Given the description of an element on the screen output the (x, y) to click on. 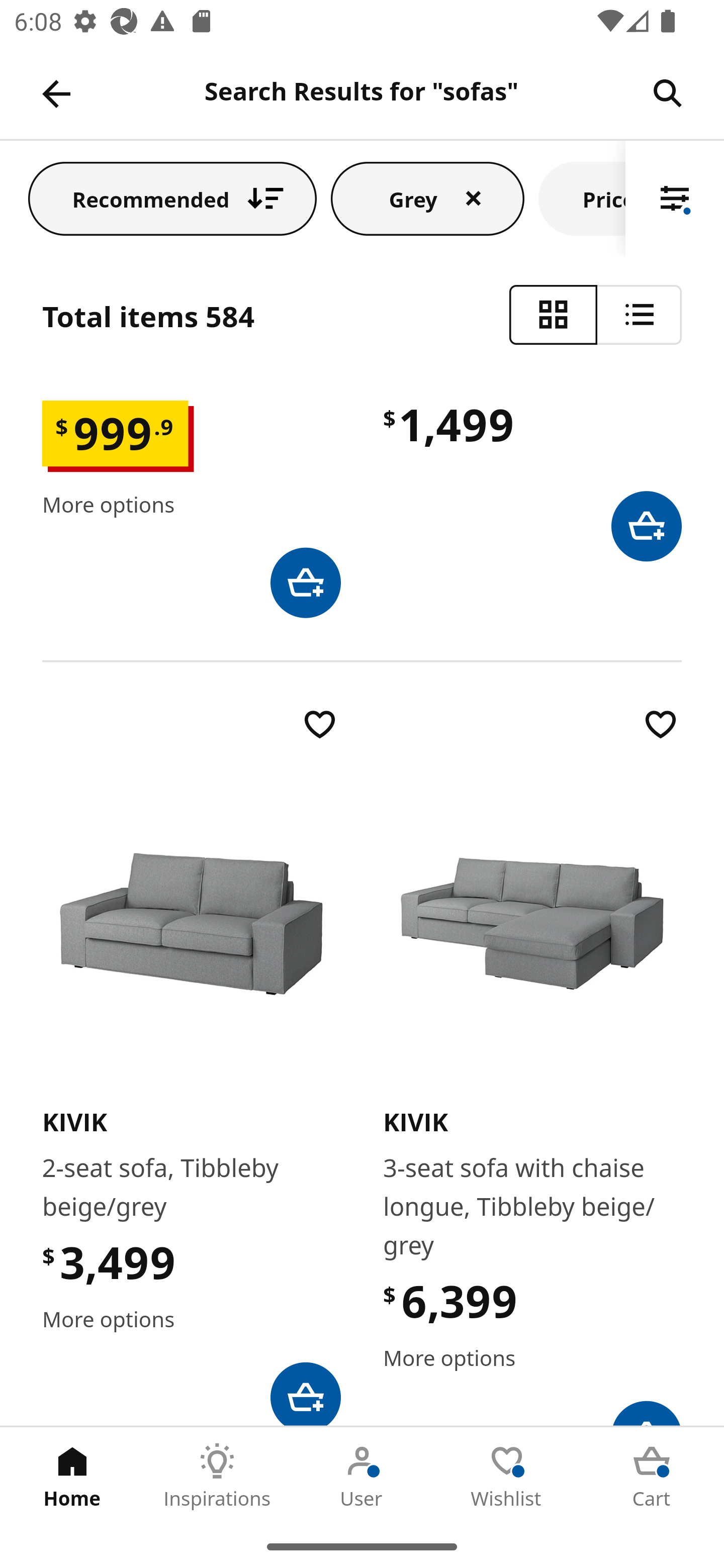
Recommended (172, 198)
Grey (427, 198)
Home
Tab 1 of 5 (72, 1476)
Inspirations
Tab 2 of 5 (216, 1476)
User
Tab 3 of 5 (361, 1476)
Wishlist
Tab 4 of 5 (506, 1476)
Cart
Tab 5 of 5 (651, 1476)
